Given the description of an element on the screen output the (x, y) to click on. 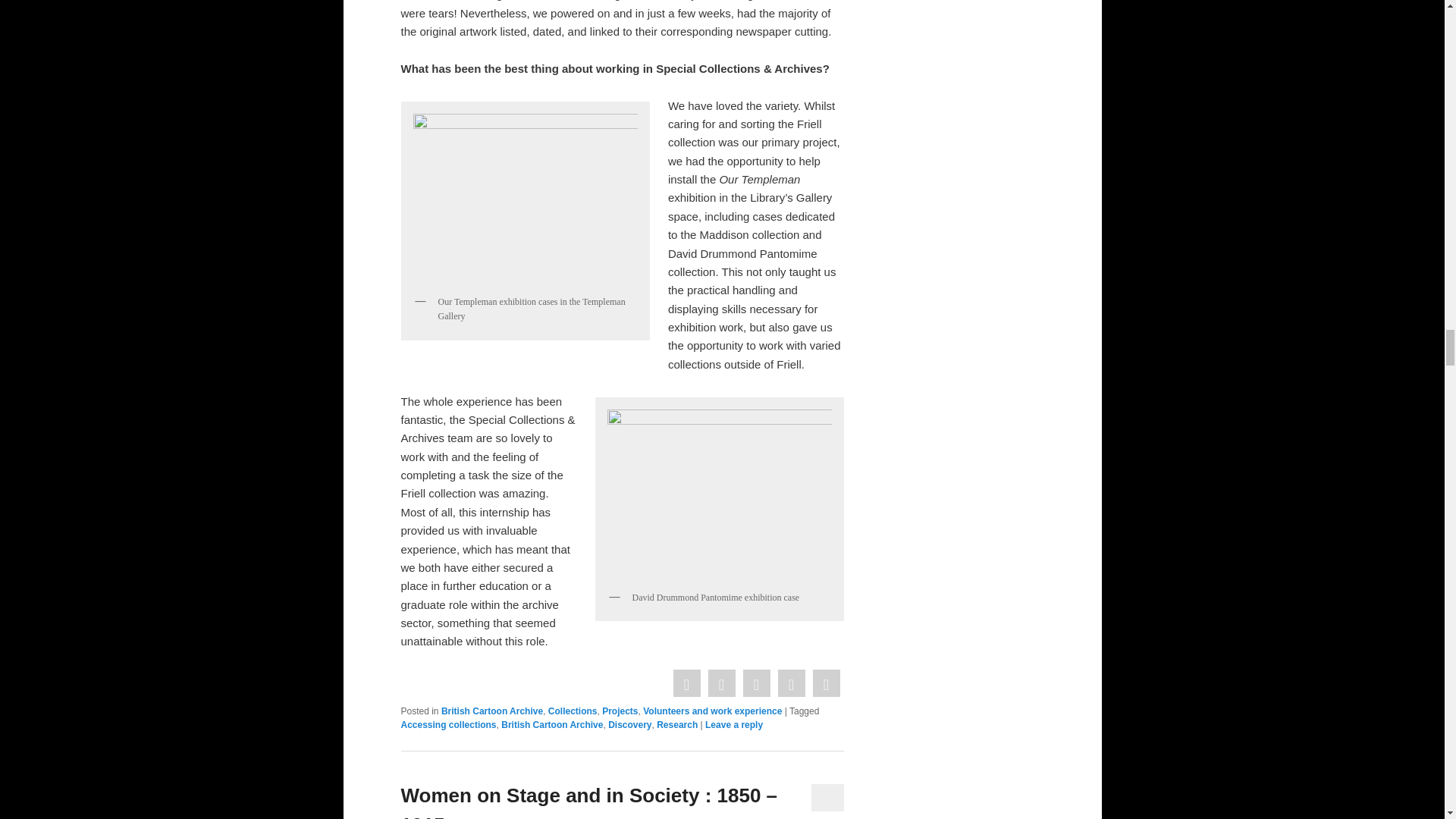
Share via Google Plus (755, 683)
Share via Twitter (720, 683)
Share via Linked In (790, 683)
Share via Facebook (686, 683)
Share via Email (825, 683)
